Given the description of an element on the screen output the (x, y) to click on. 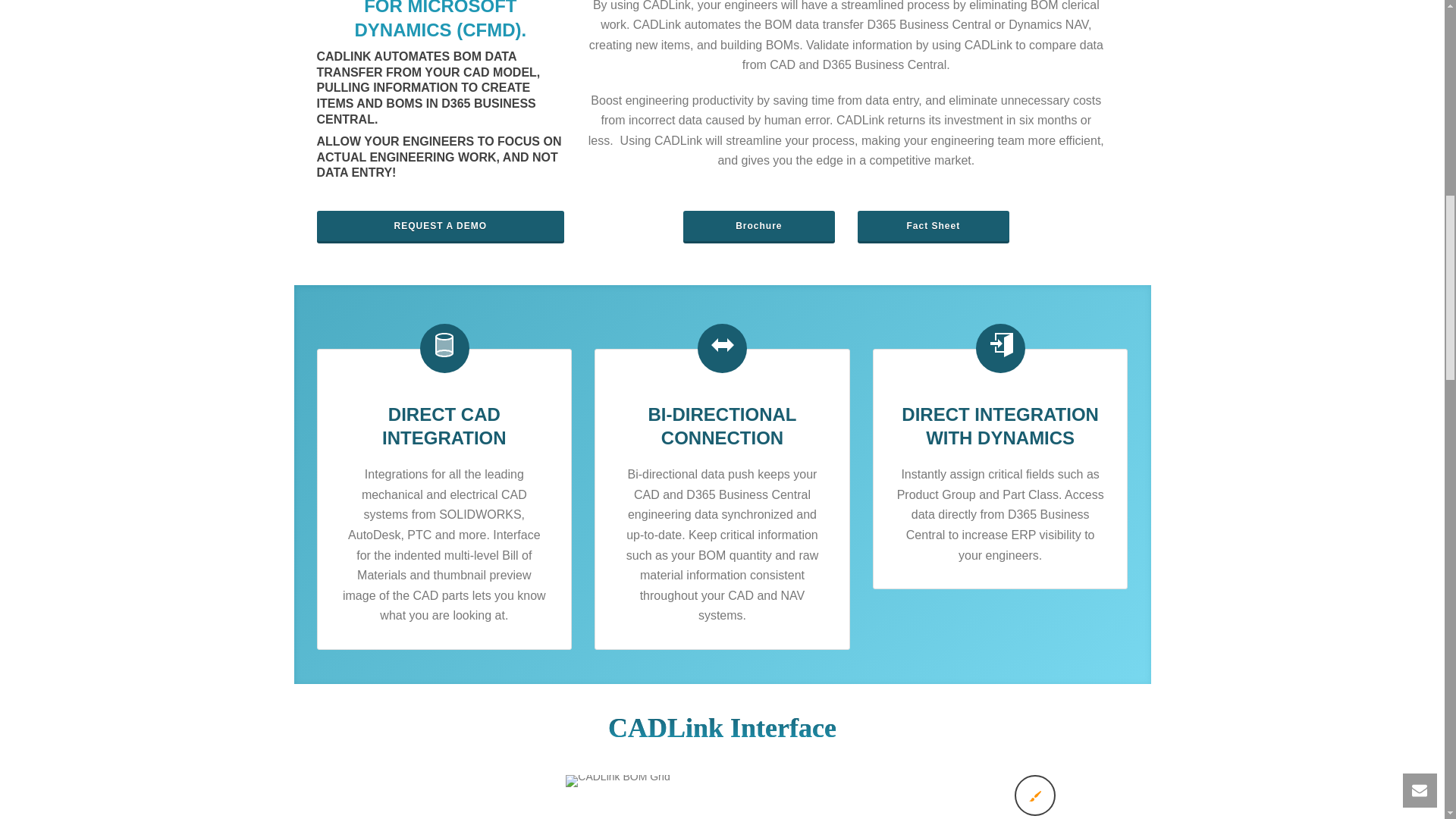
CADLink BOM Grid (617, 780)
Fact Sheet (933, 225)
Brochure (758, 225)
REQUEST A DEMO (440, 225)
